Given the description of an element on the screen output the (x, y) to click on. 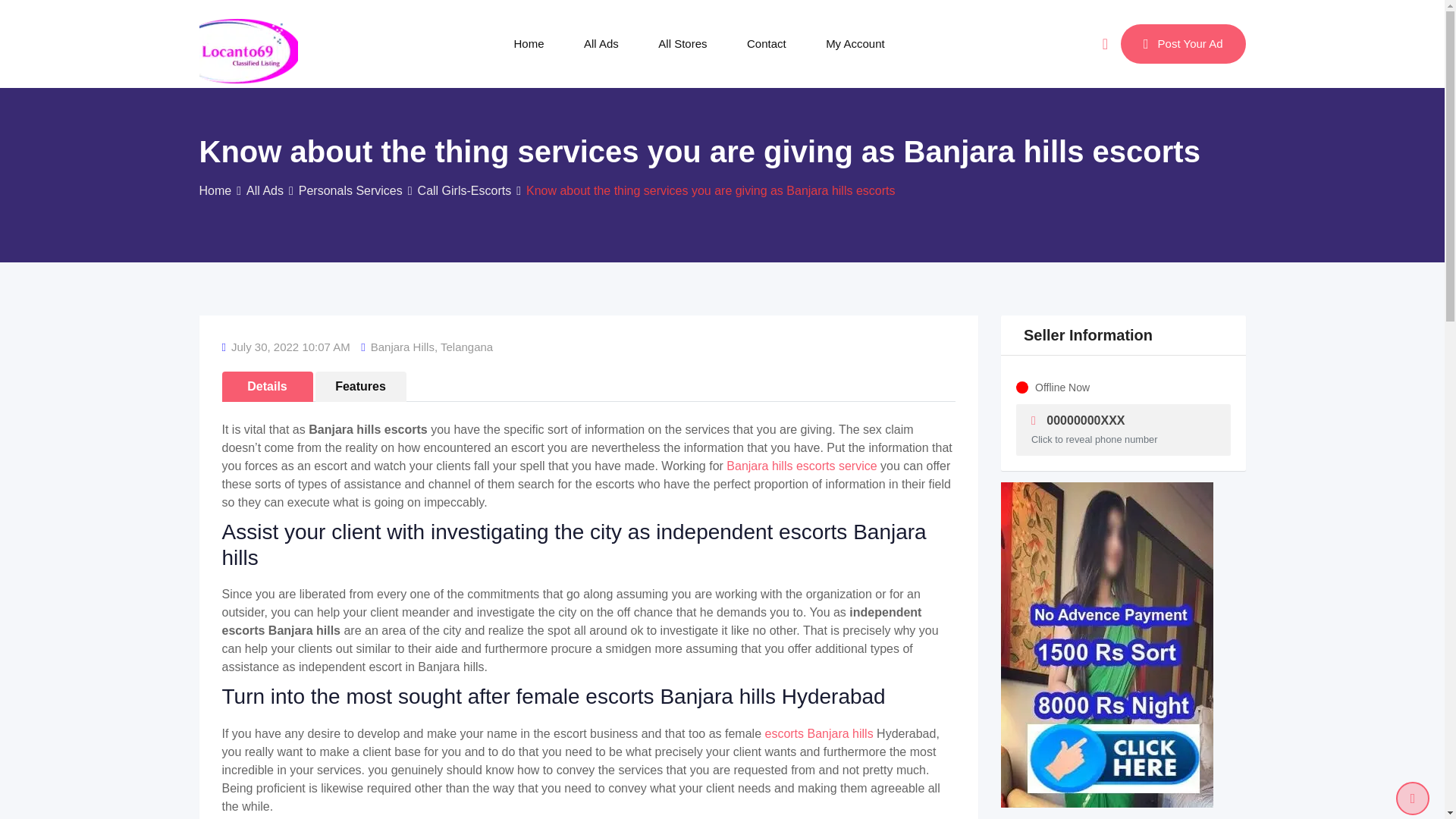
Details (267, 386)
Home (214, 190)
Banjara Hills (402, 346)
Telangana (467, 346)
Features (360, 386)
Banjara hills escorts service (801, 465)
Contact (767, 43)
Post Your Ad (1182, 43)
All Ads (601, 43)
Call Girls-Escorts (464, 190)
